Given the description of an element on the screen output the (x, y) to click on. 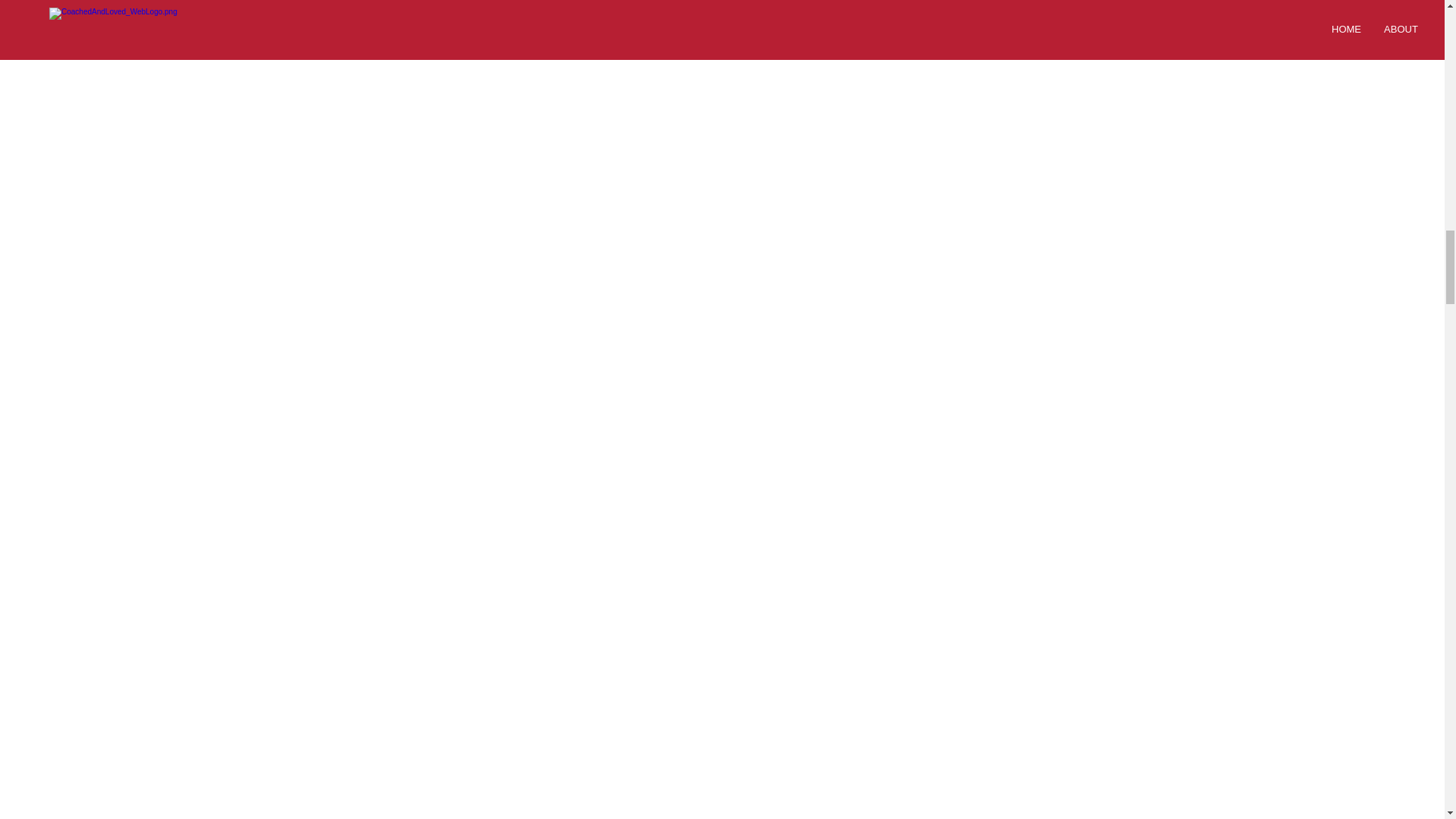
0 (931, 4)
0 (685, 4)
Post not marked as liked (1050, 5)
0 (800, 4)
